Given the description of an element on the screen output the (x, y) to click on. 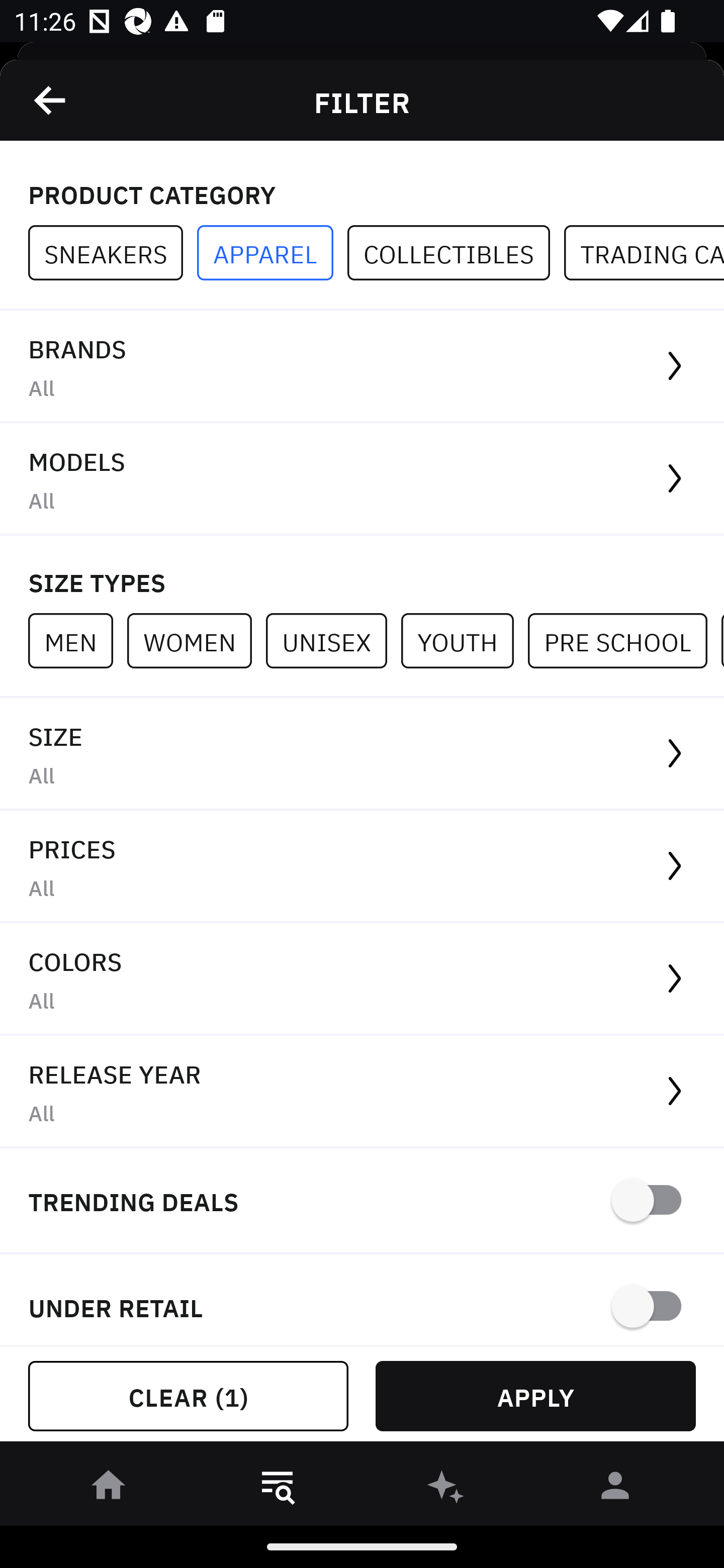
 (50, 100)
SNEAKERS (112, 252)
APPAREL (271, 252)
COLLECTIBLES (455, 252)
TRADING CARDS (643, 252)
BRANDS All (362, 366)
MODELS All (362, 479)
MEN (77, 640)
WOMEN (196, 640)
UNISEX (333, 640)
YOUTH (464, 640)
PRE SCHOOL (624, 640)
SIZE All (362, 753)
PRICES All (362, 866)
COLORS All (362, 979)
RELEASE YEAR All (362, 1091)
TRENDING DEALS (362, 1200)
UNDER RETAIL (362, 1299)
CLEAR (1) (188, 1396)
APPLY (535, 1396)
󰋜 (108, 1488)
󱎸 (277, 1488)
󰫢 (446, 1488)
󰀄 (615, 1488)
